Given the description of an element on the screen output the (x, y) to click on. 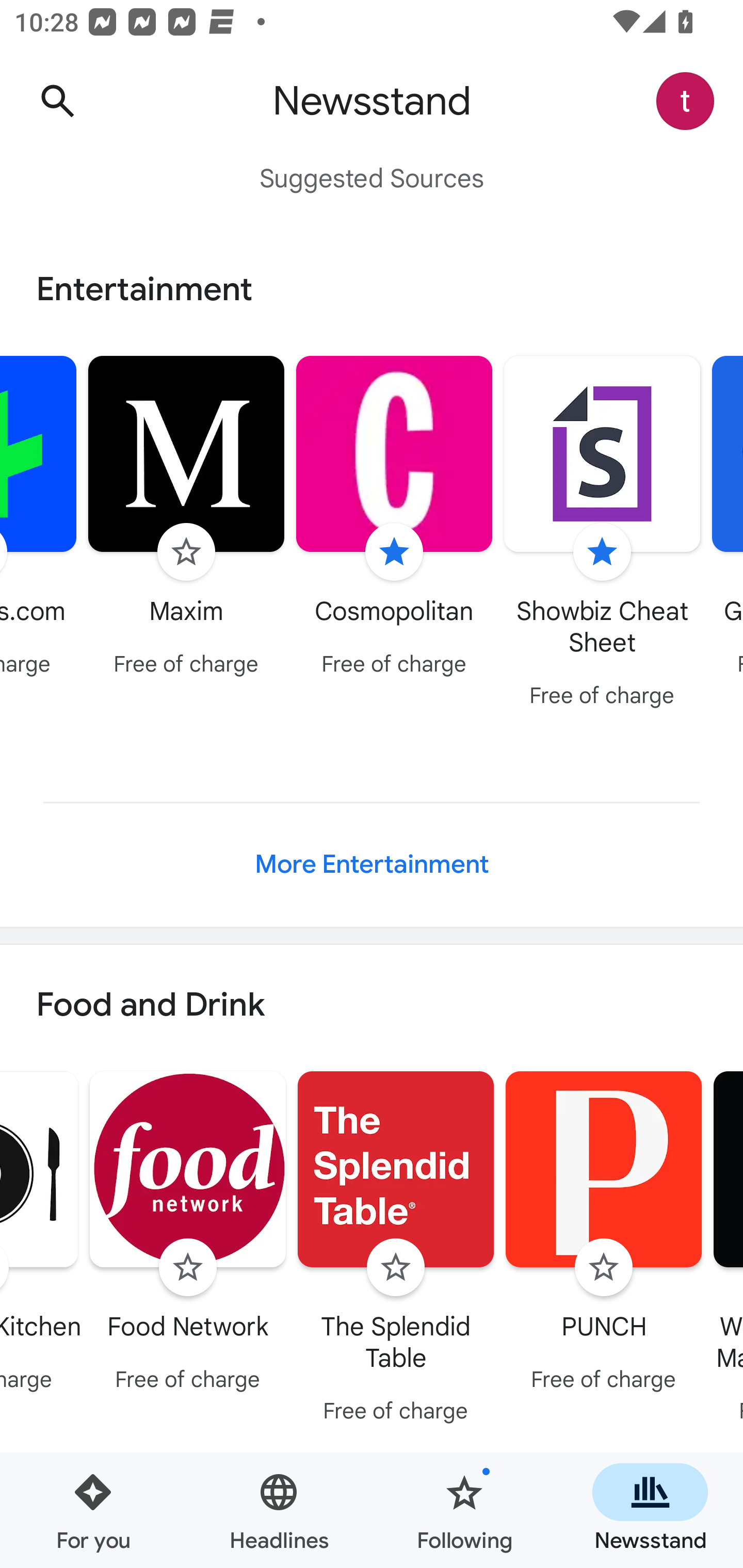
Search (57, 100)
Entertainment (371, 288)
Follow Maxim Free of charge (186, 517)
Unfollow Cosmopolitan Free of charge (394, 517)
Unfollow Showbiz Cheat Sheet Free of charge (602, 534)
Follow (186, 551)
Unfollow (393, 551)
Unfollow (601, 551)
More Entertainment (371, 864)
Food and Drink (371, 1005)
Follow Food Network Free of charge (187, 1234)
Follow The Splendid Table Free of charge (395, 1250)
Follow PUNCH Free of charge (604, 1234)
Follow (187, 1267)
Follow (395, 1267)
Follow (603, 1267)
For you (92, 1509)
Headlines (278, 1509)
Following (464, 1509)
Newsstand (650, 1509)
